Given the description of an element on the screen output the (x, y) to click on. 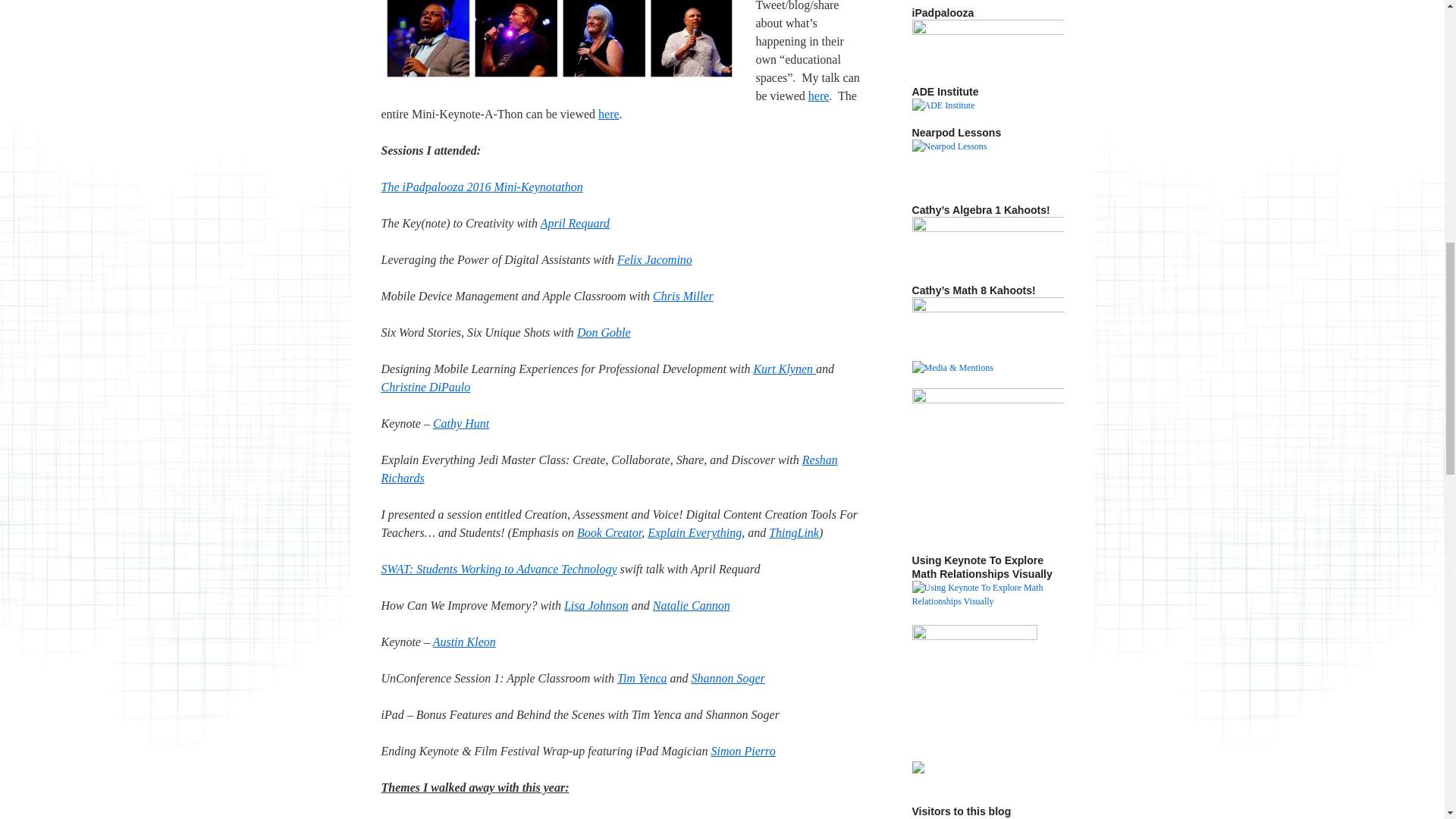
Kurt Klynen (783, 368)
here (609, 113)
Natalie Cannon (691, 604)
Tim Yenca (641, 677)
here (818, 95)
Simon Pierro (743, 750)
Lisa Johnson (596, 604)
Austin Kleon (464, 641)
Chris Miller (682, 295)
Nearpod Lessons (986, 164)
